Given the description of an element on the screen output the (x, y) to click on. 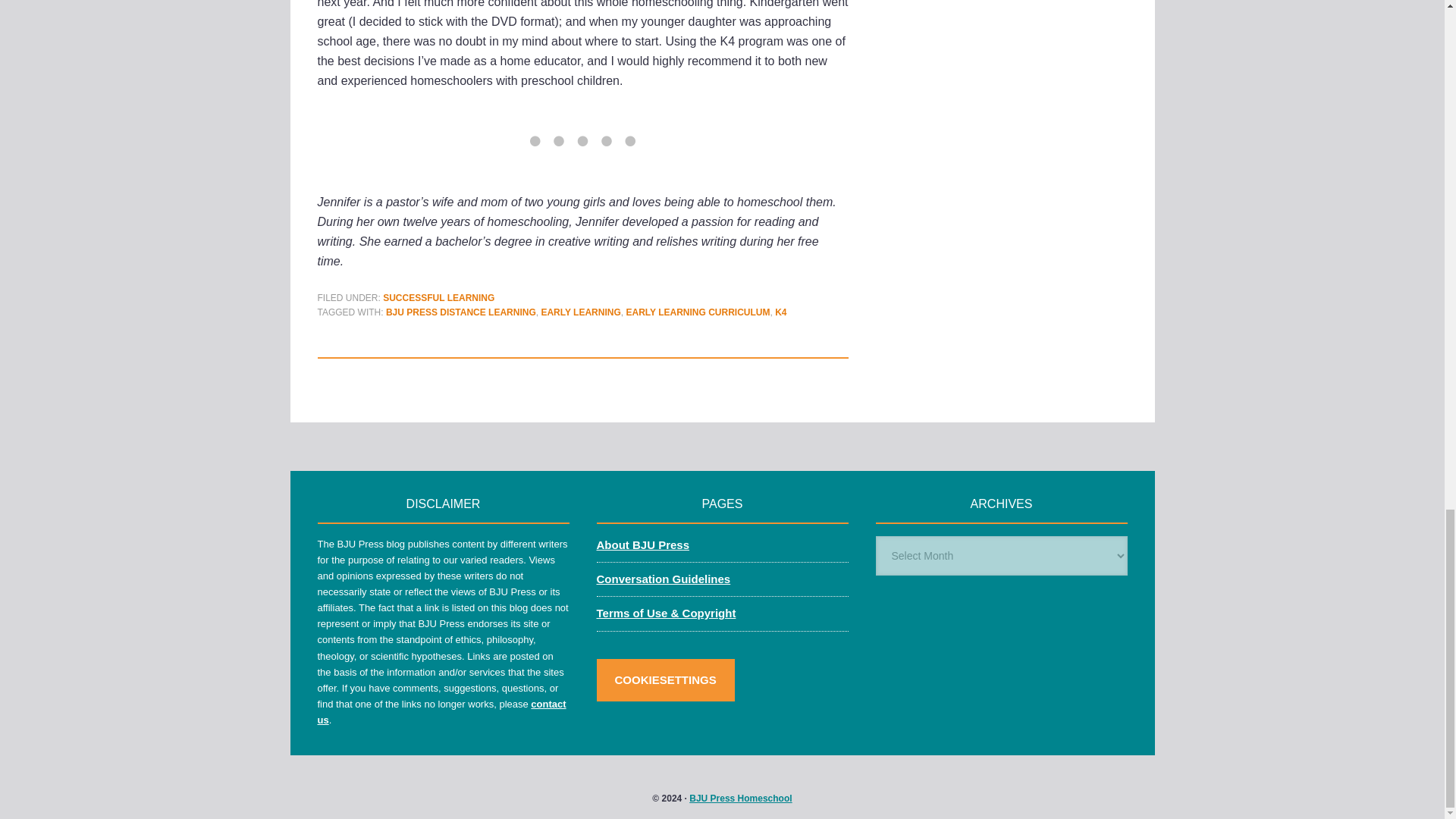
contact us (441, 711)
K4 (780, 312)
COOKIESETTINGS (664, 680)
Conversation Guidelines (662, 578)
EARLY LEARNING (580, 312)
EARLY LEARNING CURRICULUM (698, 312)
About BJU Press (641, 544)
email BJU Press (441, 711)
SUCCESSFUL LEARNING (438, 297)
BJU PRESS DISTANCE LEARNING (460, 312)
